Given the description of an element on the screen output the (x, y) to click on. 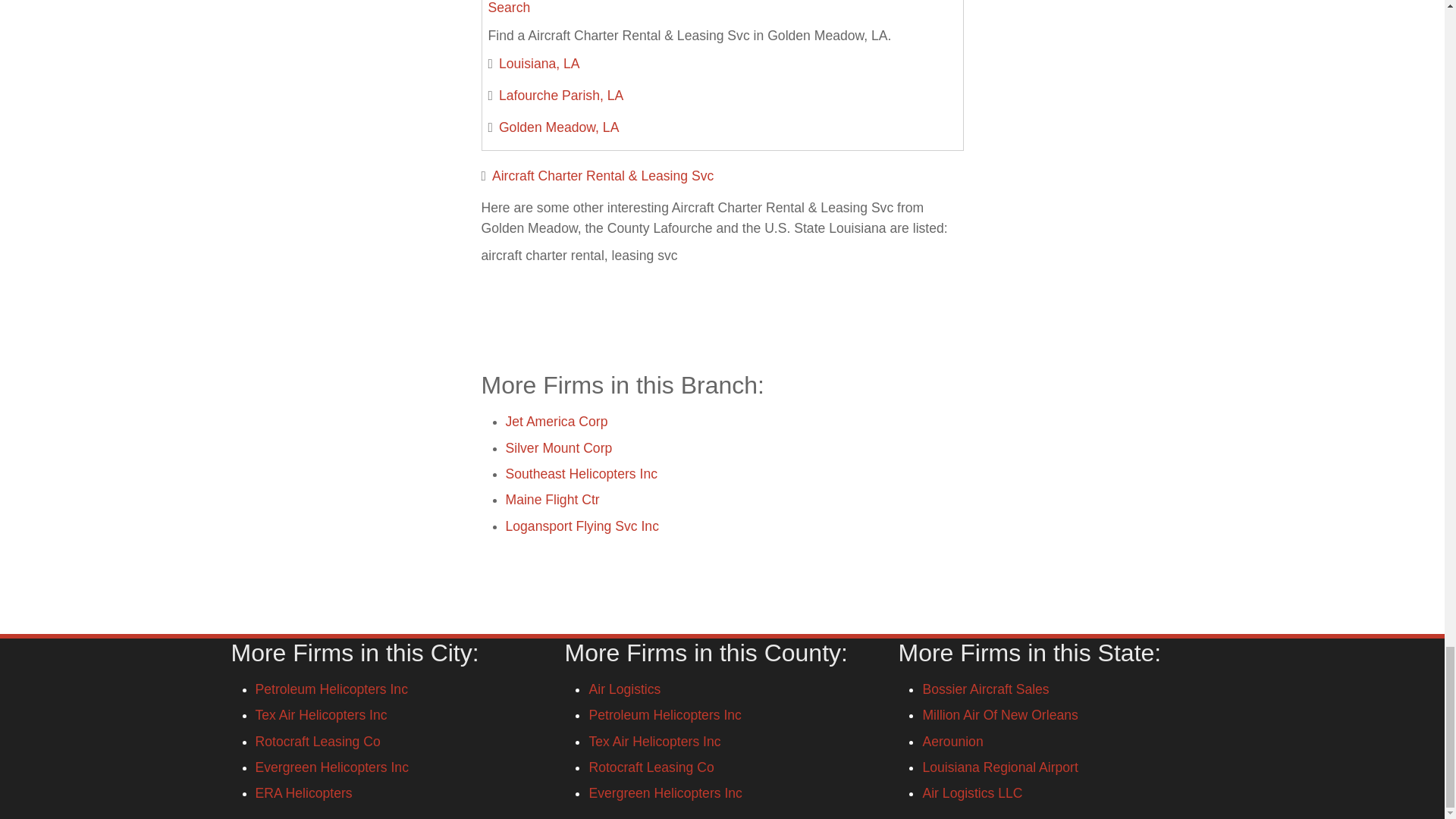
Silver Mount Corp (558, 447)
Golden Meadow, LA (558, 127)
Logansport Flying Svc Inc (581, 525)
Lafourche Parish, LA (561, 95)
Maine Flight Ctr (551, 499)
Southeast Helicopters Inc (580, 473)
Jet America Corp (556, 421)
Louisiana, LA (539, 63)
Search (509, 7)
